Given the description of an element on the screen output the (x, y) to click on. 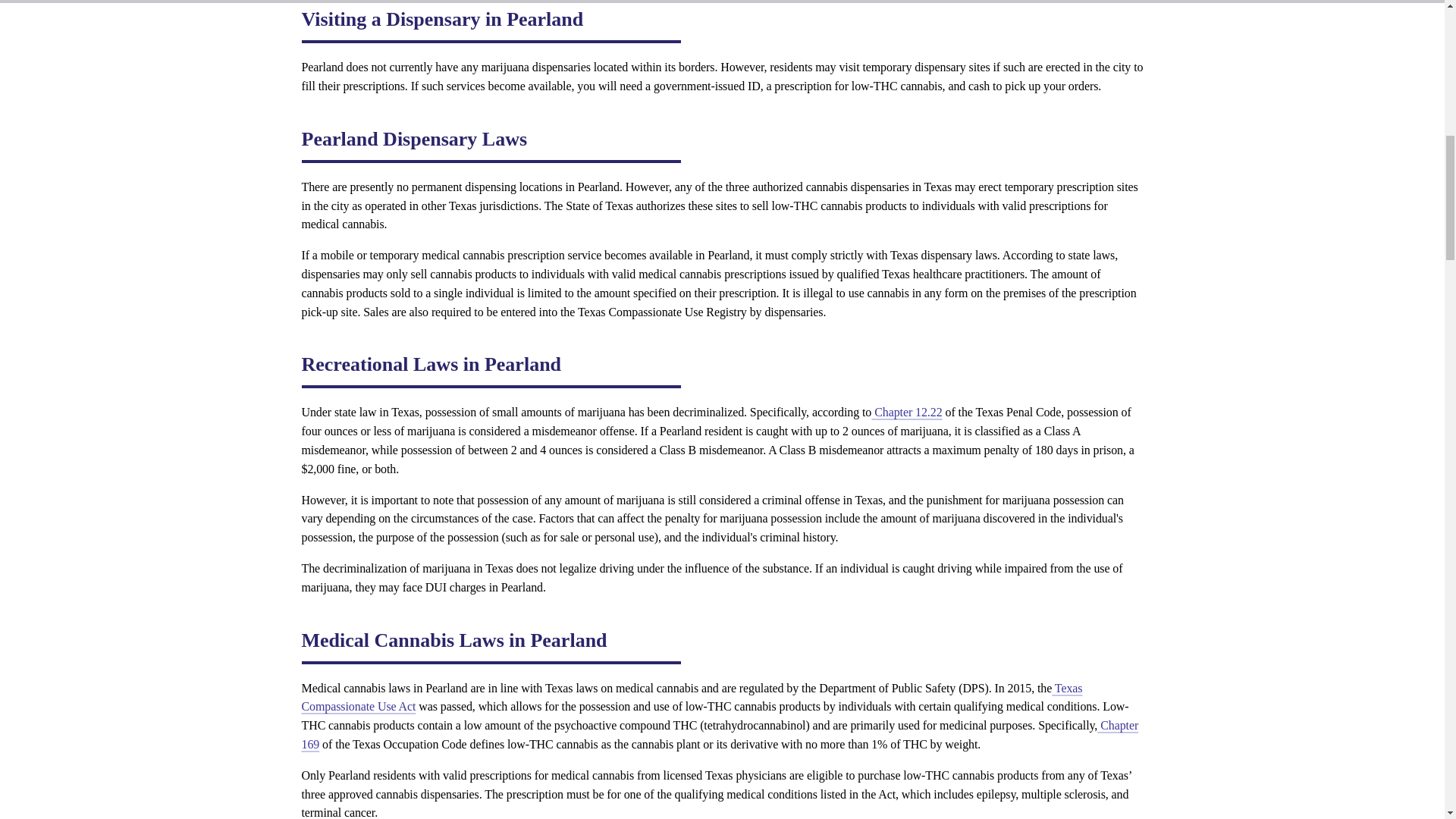
Chapter 12.22 (906, 411)
Chapter 169 (719, 735)
Texas Compassionate Use Act (692, 697)
